Given the description of an element on the screen output the (x, y) to click on. 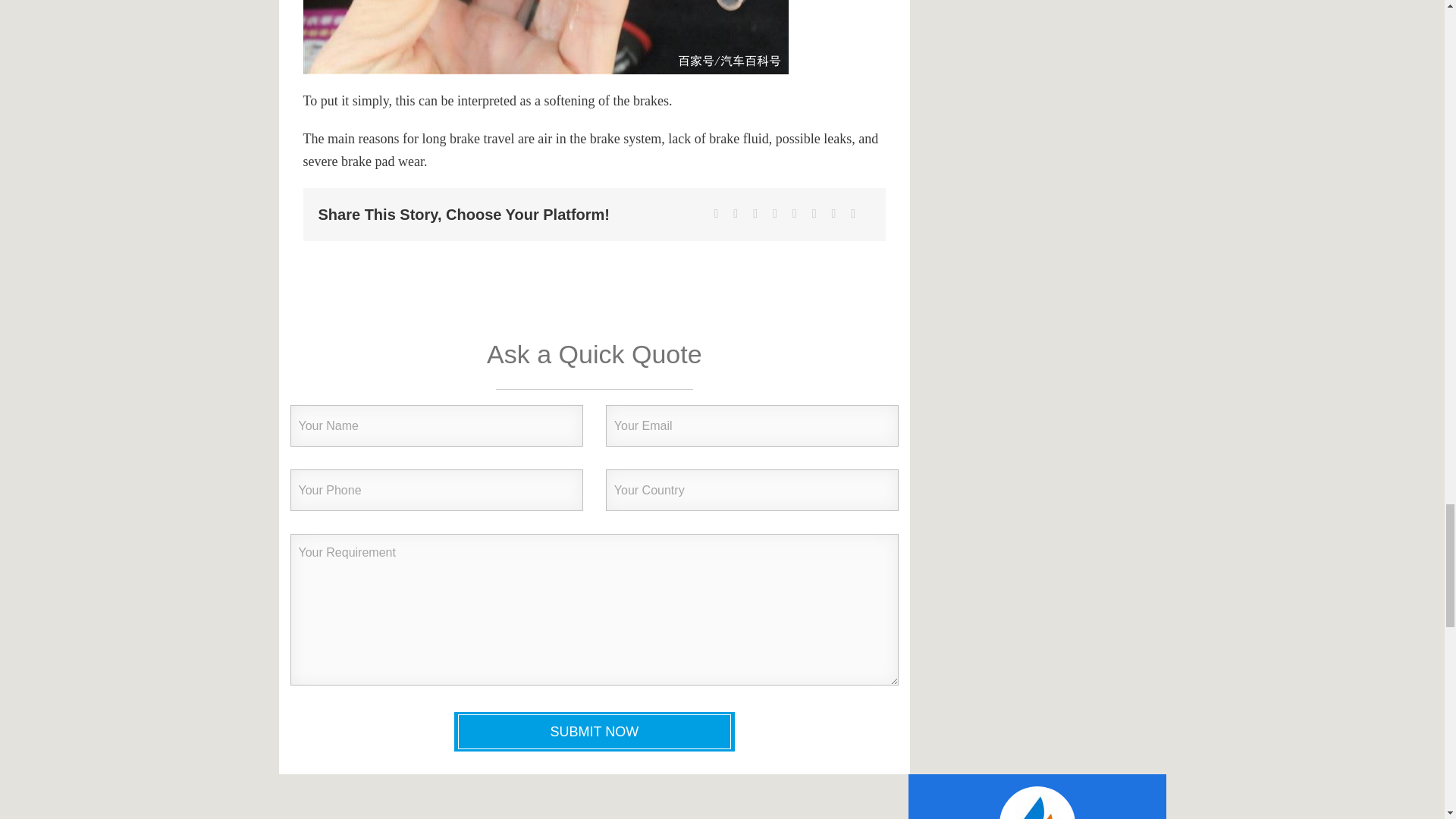
Submit Now (594, 731)
